Given the description of an element on the screen output the (x, y) to click on. 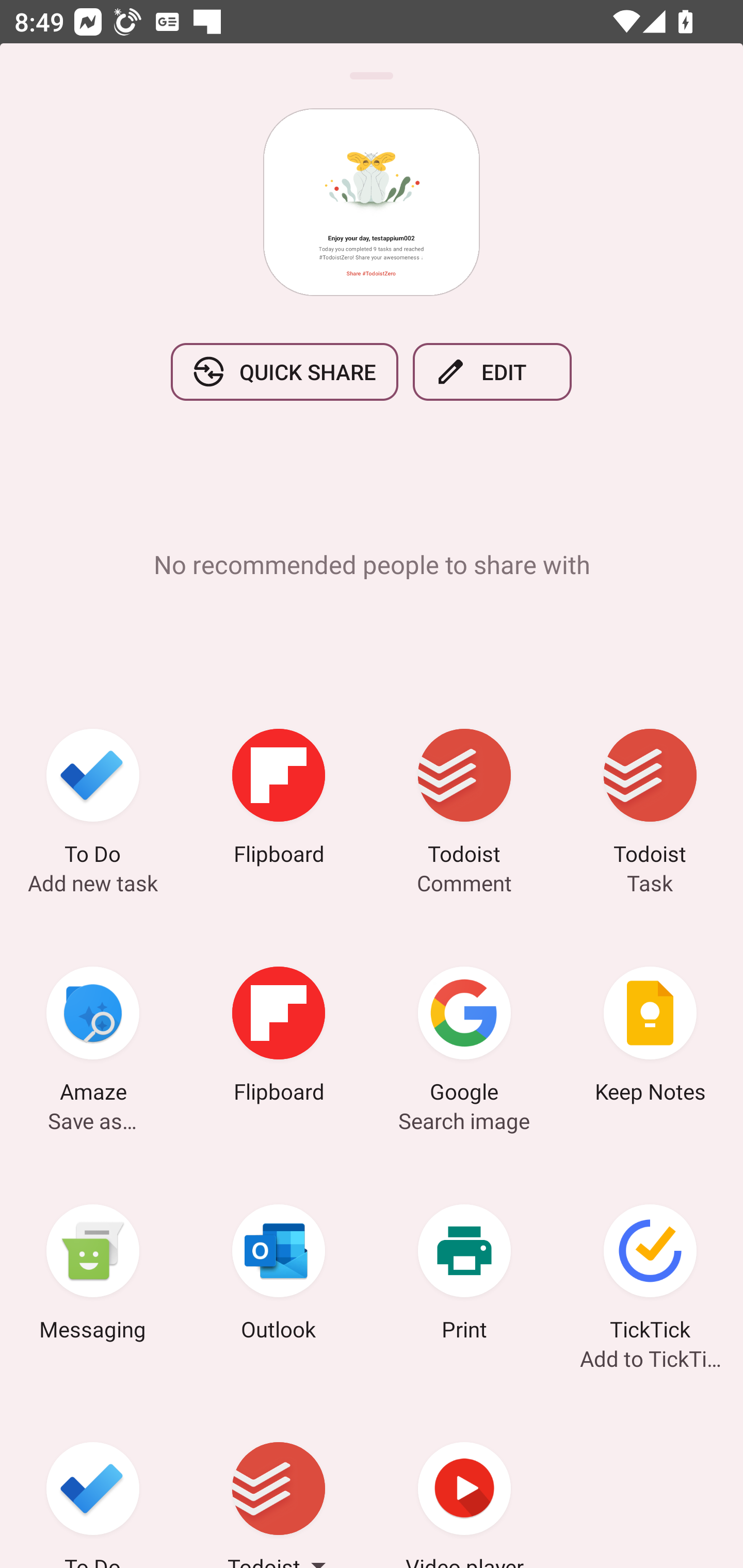
QUICK SHARE (284, 372)
EDIT (492, 372)
To Do Add new task (92, 800)
Flipboard (278, 800)
Todoist Comment (464, 800)
Todoist Task (650, 800)
Amaze Save as… (92, 1037)
Flipboard (278, 1037)
Google Search image (464, 1037)
Keep Notes (650, 1037)
Messaging (92, 1275)
Outlook (278, 1275)
Print (464, 1275)
TickTick Add to TickTick (650, 1275)
To Do (92, 1480)
Todoist (278, 1480)
Video player (464, 1480)
